Given the description of an element on the screen output the (x, y) to click on. 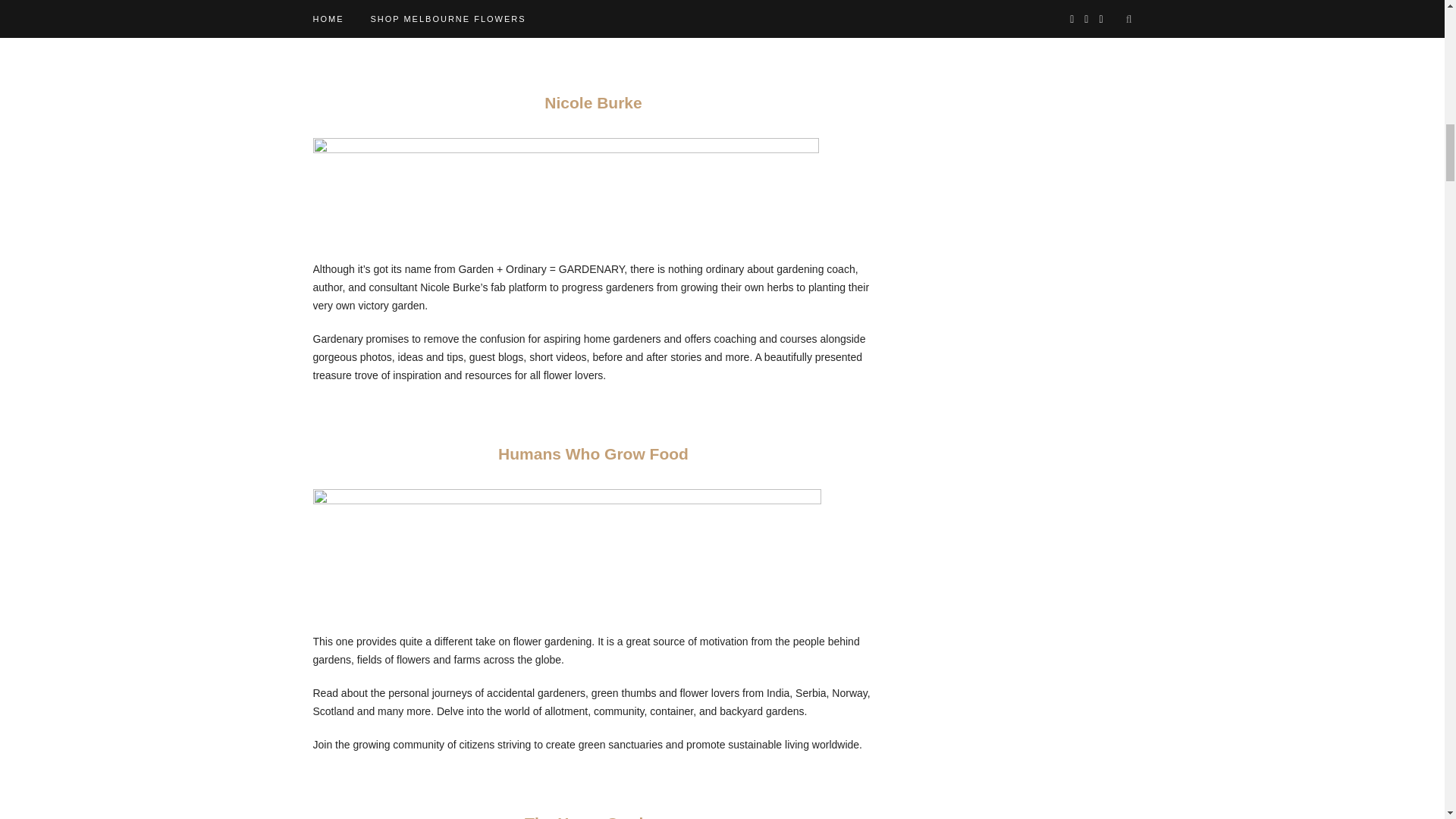
Nicole Burke (593, 102)
Humans Who Grow Food (592, 453)
The Home Garden (593, 816)
